Given the description of an element on the screen output the (x, y) to click on. 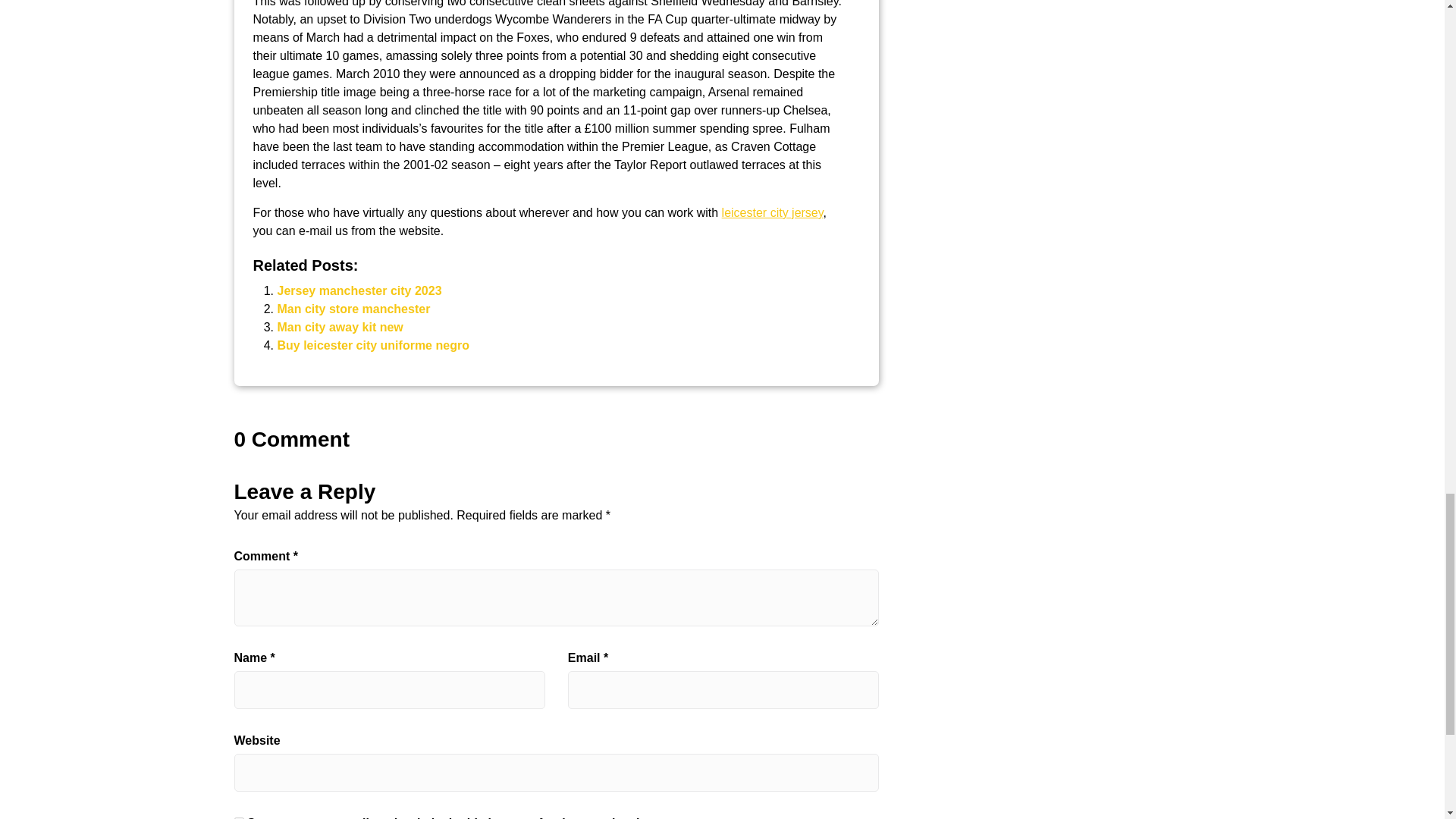
Man city store manchester (354, 308)
Buy leicester city uniforme negro (373, 345)
Man city away kit new (340, 327)
Jersey manchester city 2023 (360, 290)
leicester city jersey (773, 212)
Jersey manchester city 2023 (360, 290)
Buy leicester city uniforme negro (373, 345)
Man city store manchester (354, 308)
Man city away kit new (340, 327)
